Given the description of an element on the screen output the (x, y) to click on. 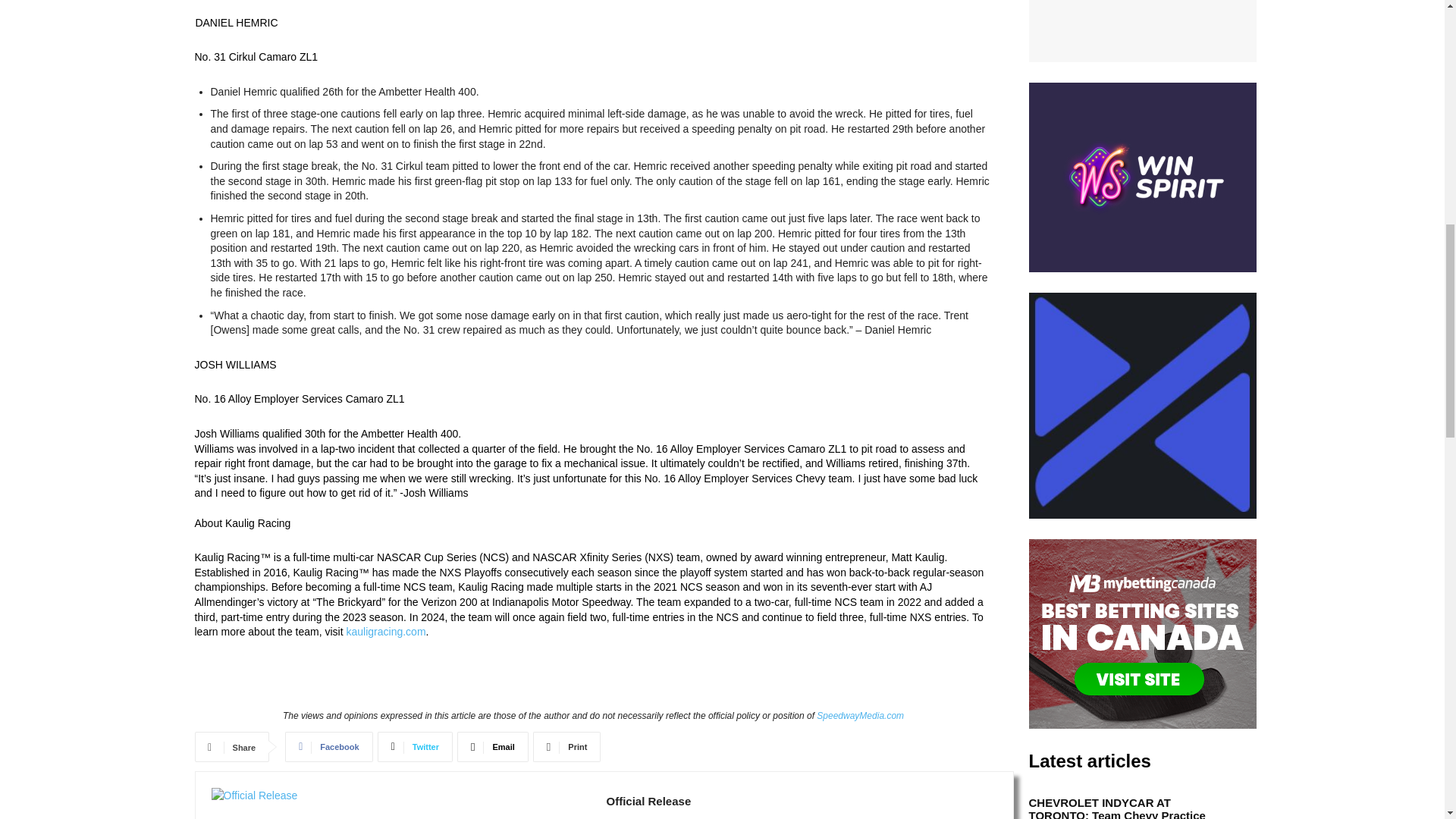
Facebook (328, 747)
Twitter (414, 747)
Email (492, 747)
